Given the description of an element on the screen output the (x, y) to click on. 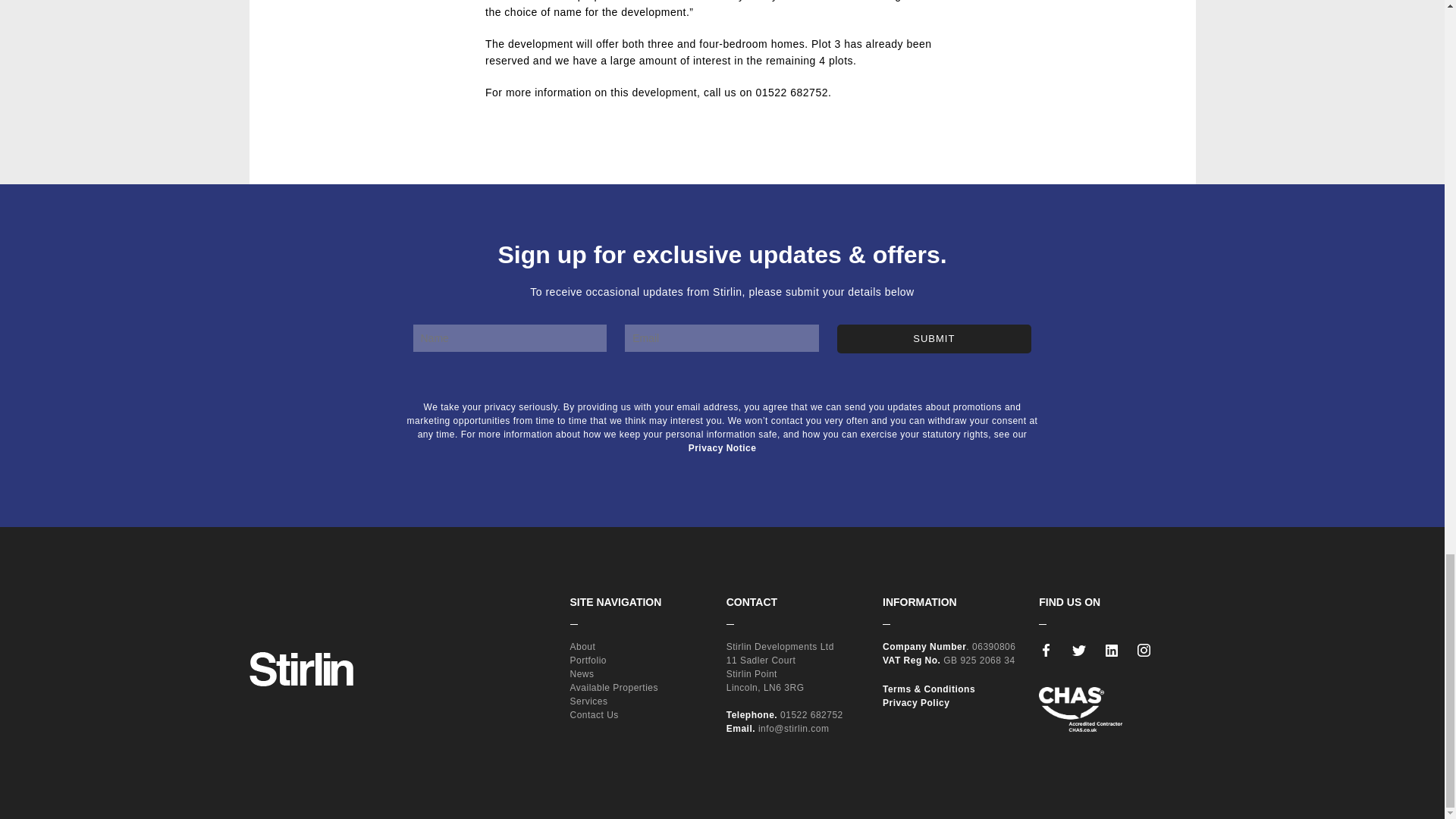
News (582, 674)
About (582, 646)
Portfolio (588, 660)
Submit (933, 338)
Submit (933, 338)
Privacy Notice (722, 448)
